Given the description of an element on the screen output the (x, y) to click on. 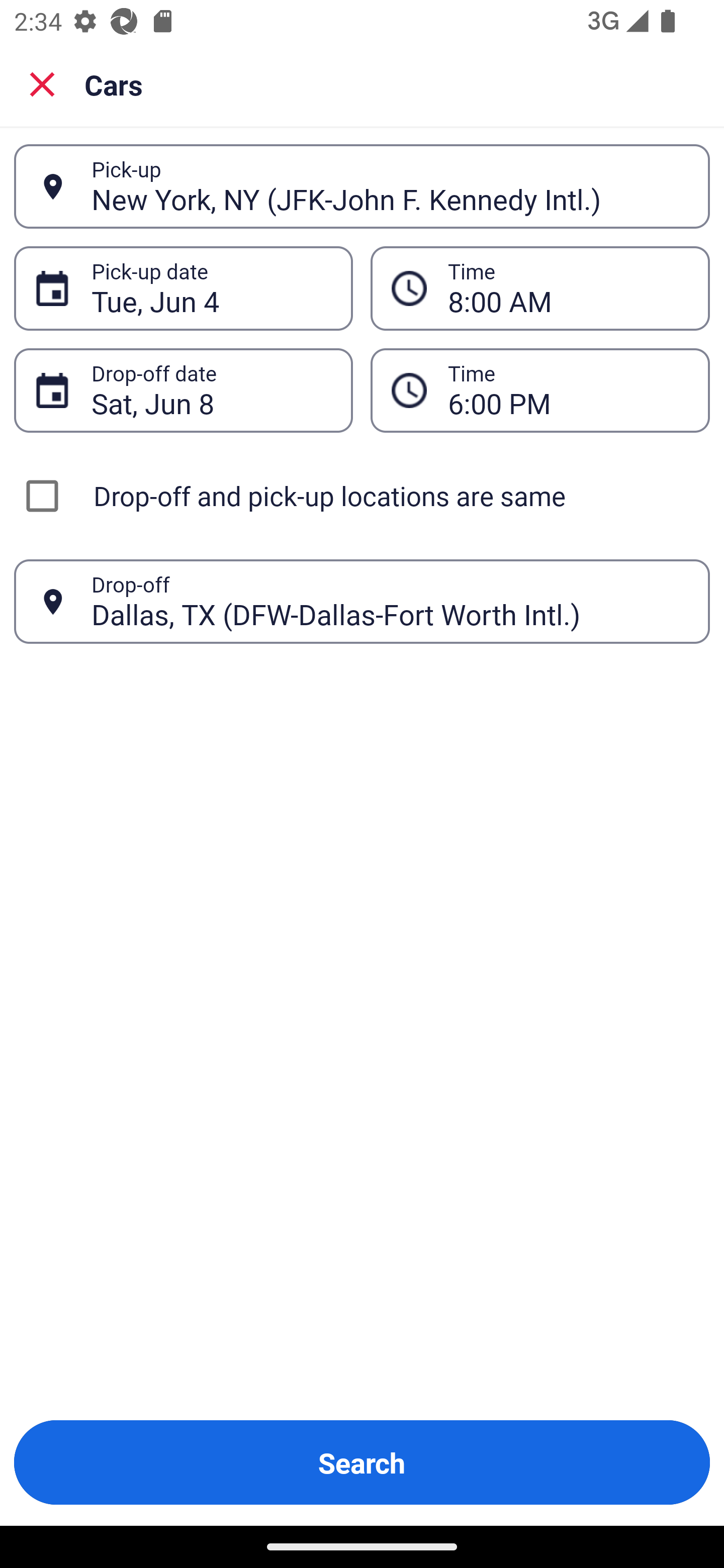
Close search screen (41, 83)
New York, NY (JFK-John F. Kennedy Intl.) Pick-up (361, 186)
New York, NY (JFK-John F. Kennedy Intl.) (389, 186)
Tue, Jun 4 Pick-up date (183, 288)
8:00 AM (540, 288)
Tue, Jun 4 (211, 288)
8:00 AM (568, 288)
Sat, Jun 8 Drop-off date (183, 390)
6:00 PM (540, 390)
Sat, Jun 8 (211, 390)
6:00 PM (568, 390)
Drop-off and pick-up locations are same (361, 495)
Dallas, TX (DFW-Dallas-Fort Worth Intl.) Drop-off (361, 601)
Dallas, TX (DFW-Dallas-Fort Worth Intl.) (389, 601)
Search Button Search (361, 1462)
